Given the description of an element on the screen output the (x, y) to click on. 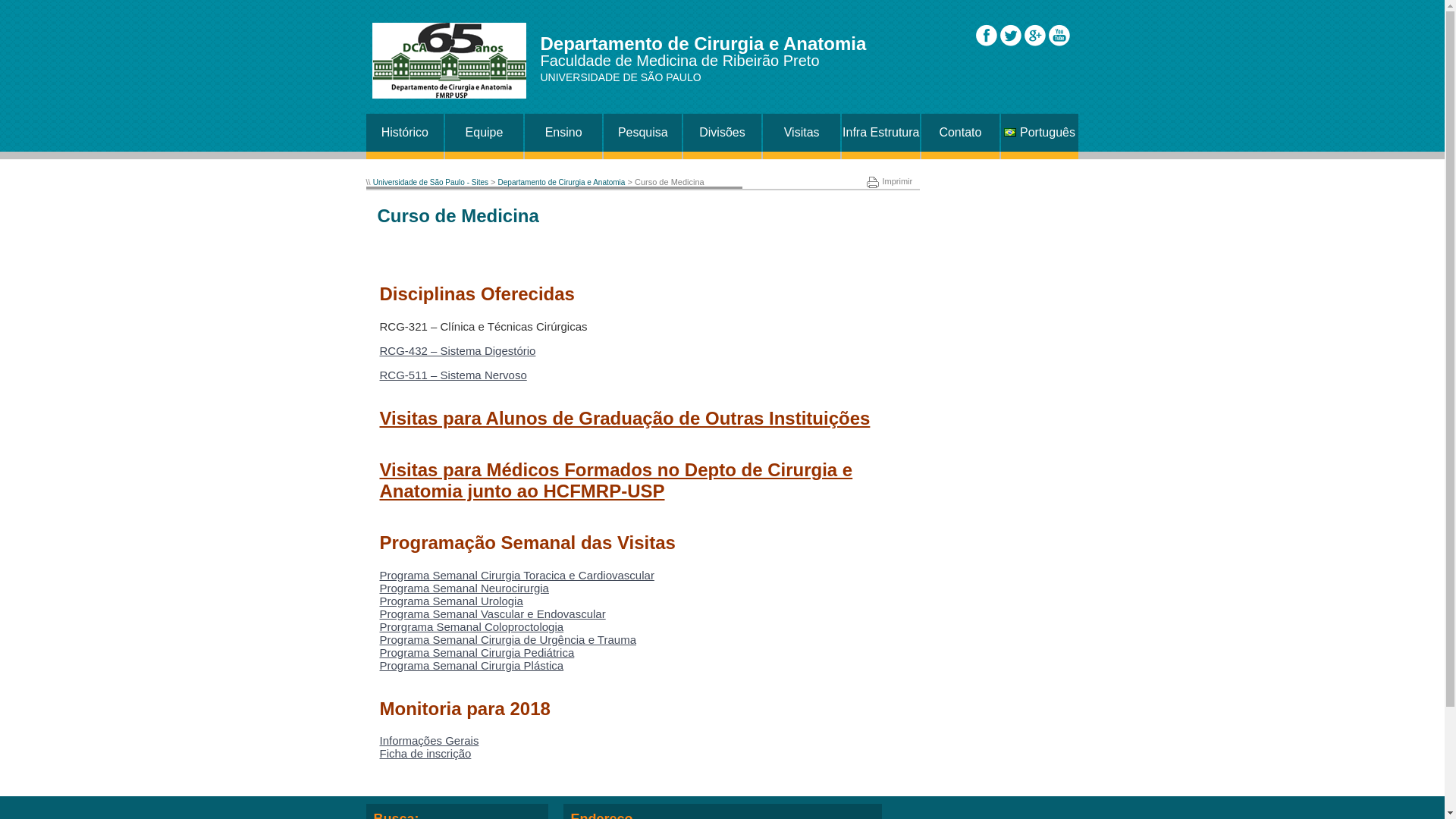
Programa Semanal Cirurgia Toracica e Cardiovascular Element type: text (516, 574)
Twitter Element type: hover (1009, 34)
Infra Estrutura Element type: text (880, 132)
Departamento de Cirurgia e Anatomia Element type: text (561, 182)
Youtube Element type: hover (1058, 34)
Programa Semanal Neurocirurgia Element type: text (463, 587)
Equipe Element type: text (484, 132)
Contato Element type: text (960, 132)
Google Plus Element type: hover (1034, 34)
Imprimir Element type: text (889, 180)
Visitas Element type: text (801, 132)
Pesquisa Element type: text (642, 132)
Facebook Element type: hover (985, 34)
Prorgrama Semanal Coloproctologia Element type: text (471, 626)
Programa Semanal Urologia Element type: text (450, 600)
Ensino Element type: text (563, 132)
Programa Semanal Vascular e Endovascular Element type: text (492, 613)
Departamento de Cirurgia e Anatomia Element type: hover (449, 60)
